Given the description of an element on the screen output the (x, y) to click on. 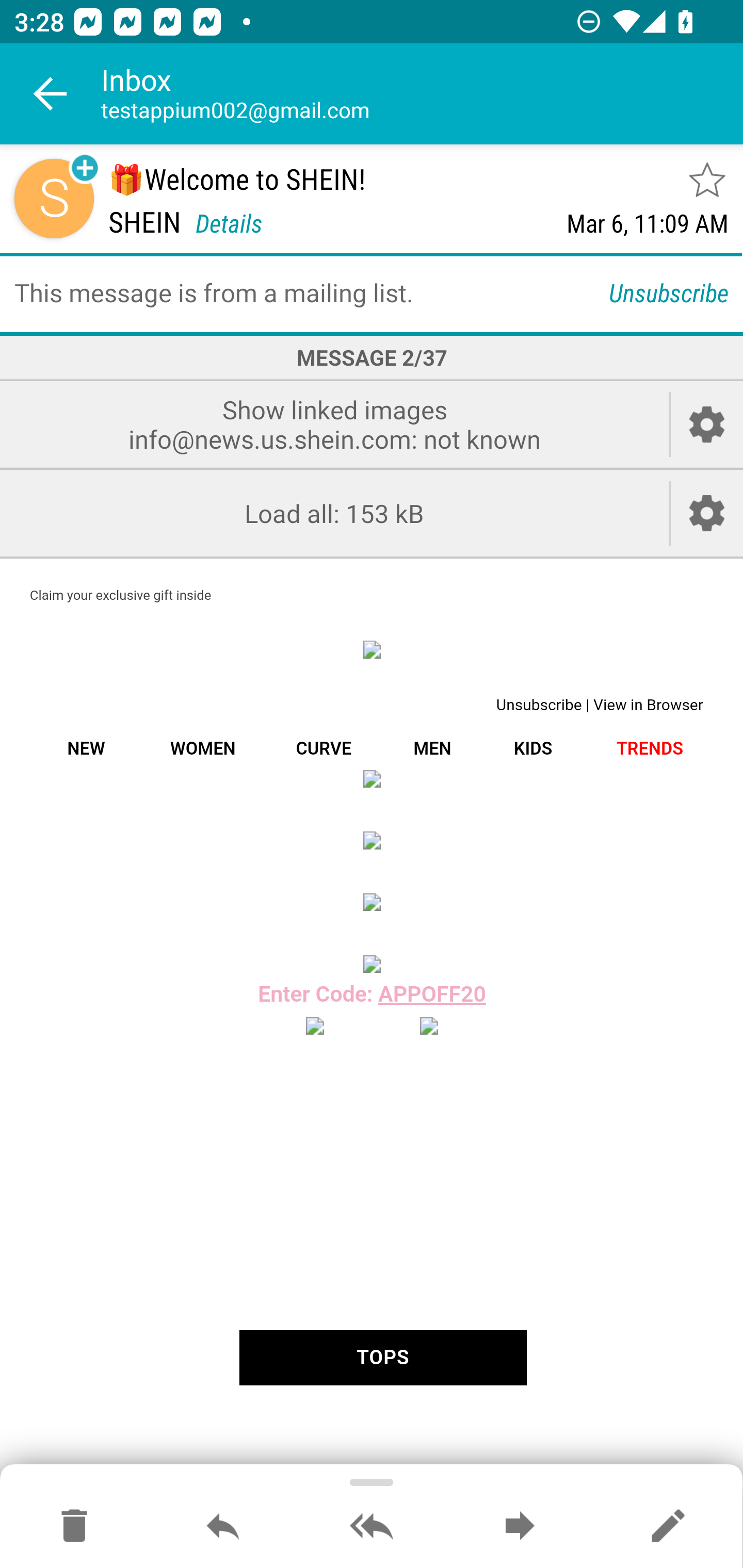
Navigate up (50, 93)
Inbox testappium002@gmail.com (422, 93)
Sender contact button (53, 198)
Unsubscribe (668, 292)
Account setup (706, 424)
Load all: 153 kB (334, 513)
Account setup (706, 513)
Claim your exclusive gift inside (120, 595)
shein (371, 648)
Unsubscribe  Unsubscribe   (540, 704)
View in Browser (648, 704)
NEW (86, 748)
WOMEN (202, 748)
CURVE (323, 748)
MEN (432, 748)
KIDS (532, 748)
TRENDS (649, 748)
EXTRA 20% OFF (371, 778)
EXPLORE MORE (371, 840)
SHOP BEST SELLERS (371, 901)
ios (314, 1026)
android (428, 1026)
TOPS (382, 1357)
Move to Deleted (74, 1527)
Reply (222, 1527)
Reply all (371, 1527)
Forward (519, 1527)
Reply as new (667, 1527)
